Given the description of an element on the screen output the (x, y) to click on. 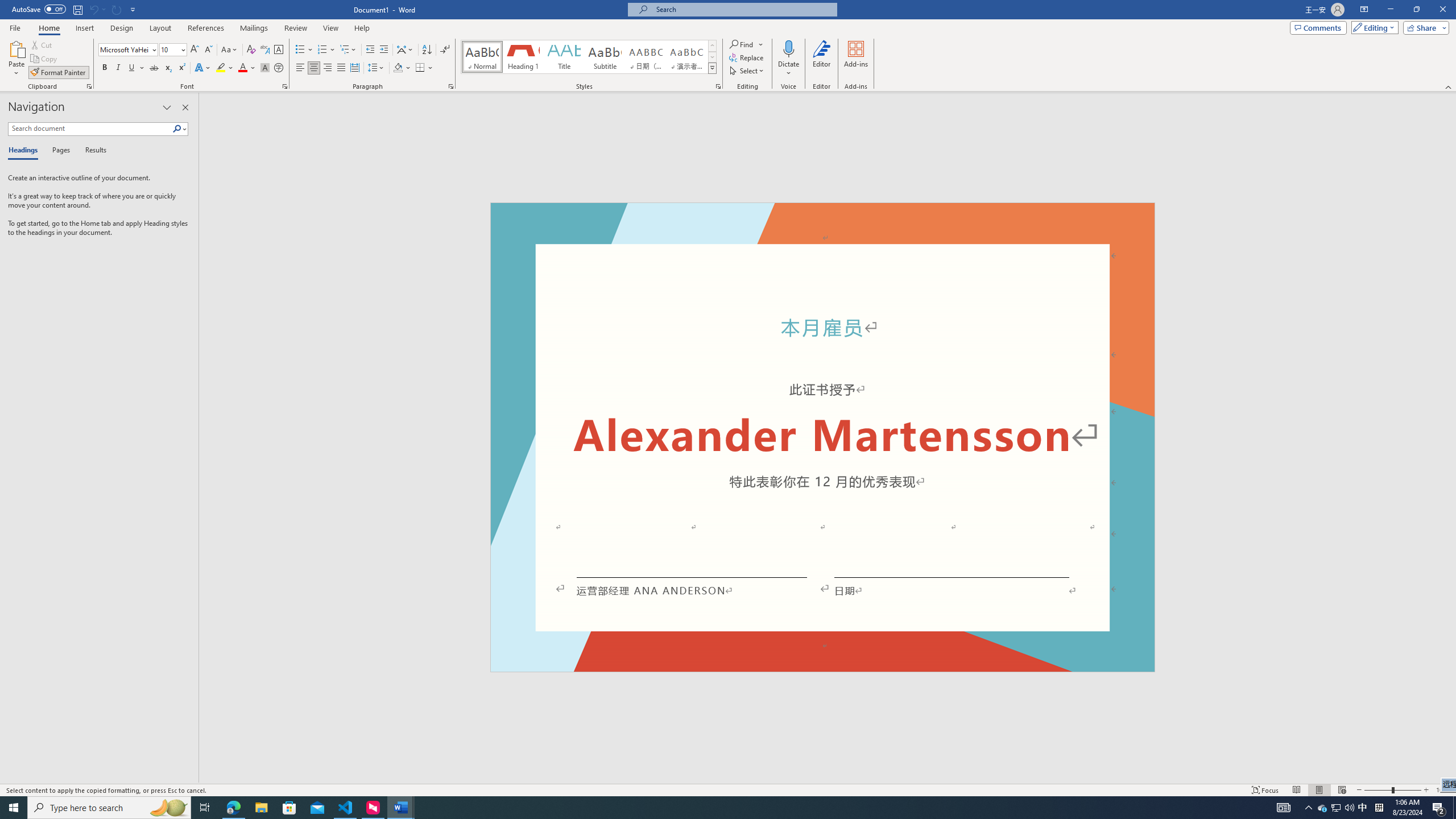
Help (361, 28)
Decrease Indent (370, 49)
Align Right (327, 67)
Shrink Font (208, 49)
Zoom Out (1377, 790)
Web Layout (1342, 790)
Shading (402, 67)
Phonetic Guide... (264, 49)
Cut (42, 44)
Paragraph... (450, 85)
Page 1 content (822, 445)
Paste (16, 48)
Zoom (1392, 790)
